Given the description of an element on the screen output the (x, y) to click on. 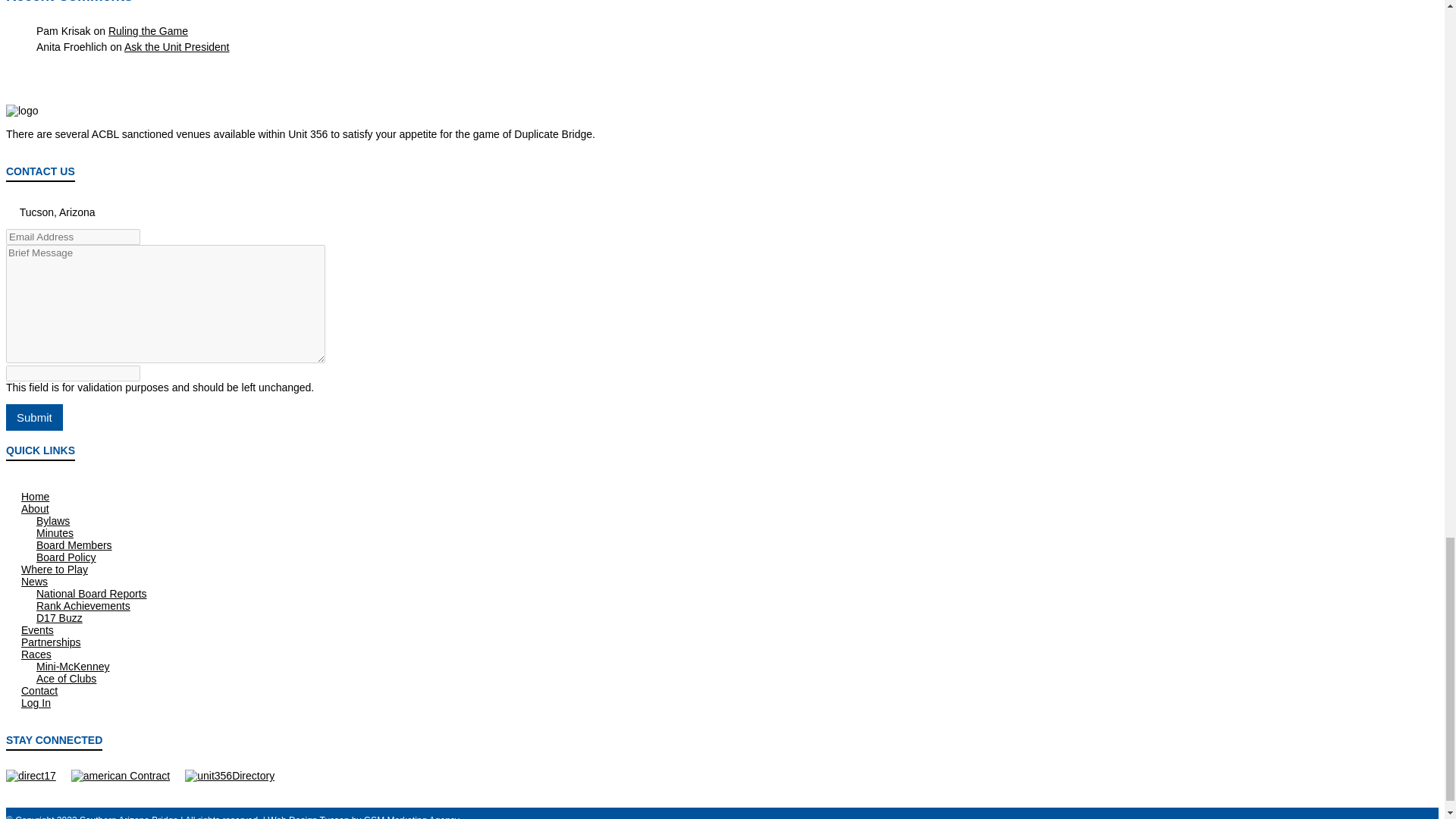
Where to Play (54, 569)
Board Policy (66, 557)
Ruling the Game (147, 30)
Submit (33, 417)
Board Members (74, 544)
Minutes (55, 532)
Bylaws (52, 521)
Ask the Unit President (176, 46)
Submit (33, 417)
Home (35, 496)
